Given the description of an element on the screen output the (x, y) to click on. 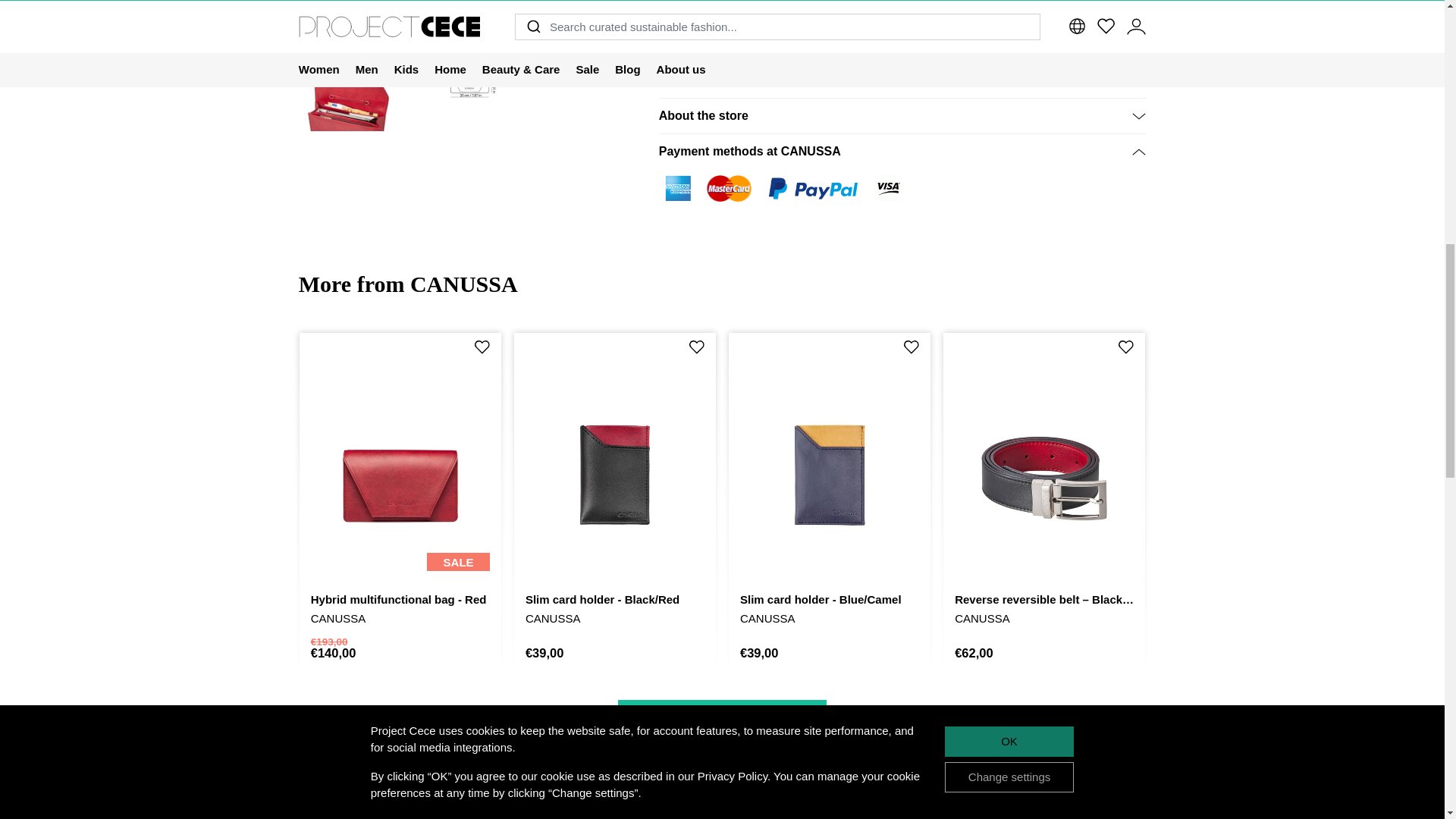
Hybrid multifunctional bag - Red from CANUSSA (469, 81)
Hybrid multifunctional bag - Red from CANUSSA (469, 4)
Hybrid multifunctional bag - Red from CANUSSA (347, 81)
Hybrid multifunctional bag - Red from CANUSSA (347, 4)
Hybrid multifunctional bag - Red from CANUSSA (591, 4)
